Given the description of an element on the screen output the (x, y) to click on. 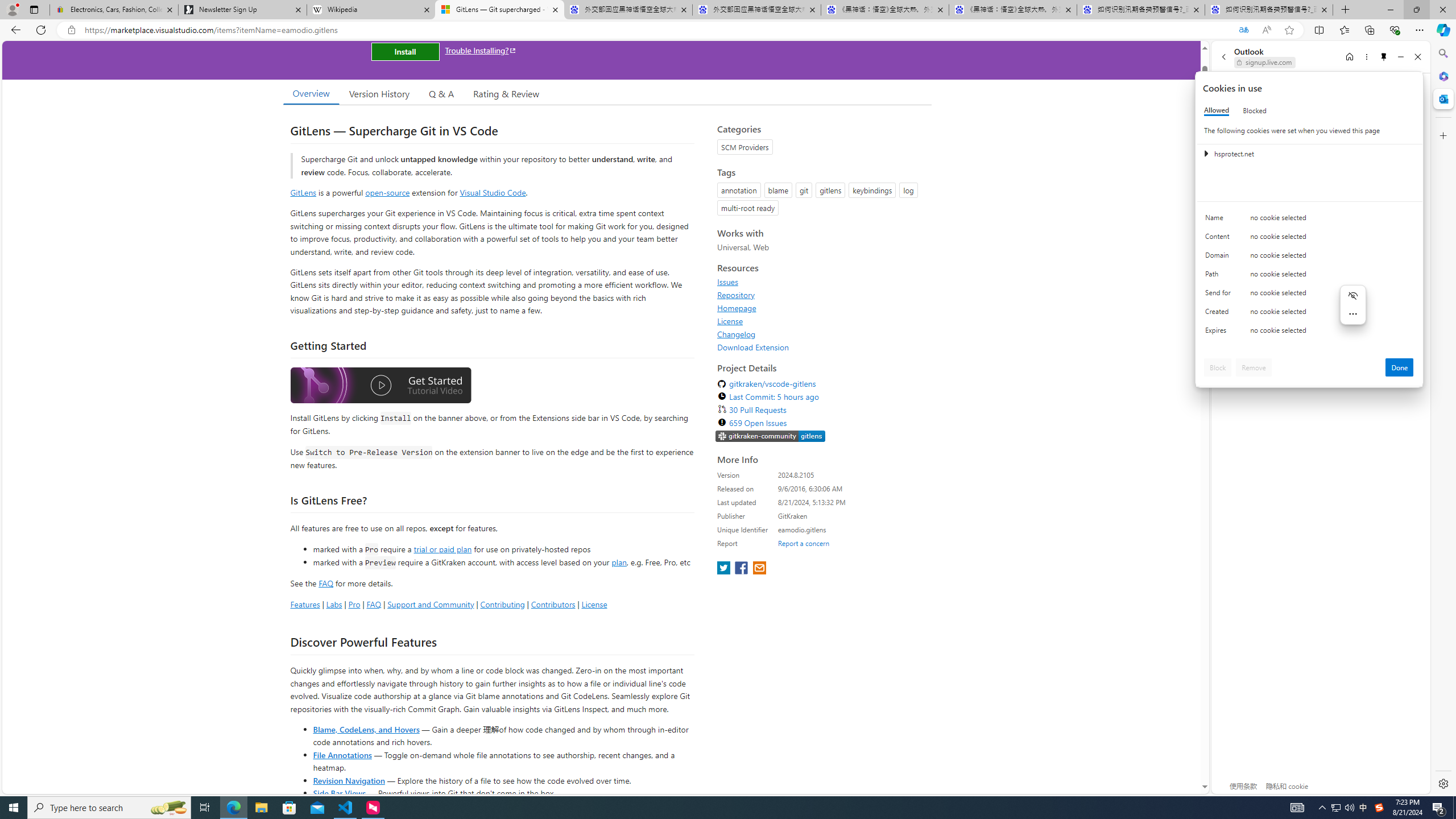
Content (1219, 239)
no cookie selected (1331, 332)
Created (1219, 313)
Name (1219, 220)
Blocked (1255, 110)
Mini menu on text selection (1352, 304)
Allowed (1216, 110)
Class: c0153 c0157 c0154 (1309, 220)
Done (1399, 367)
Send for (1219, 295)
Hide menu (1352, 295)
Mini menu on text selection (1352, 311)
Class: c0153 c0157 (1309, 332)
Remove (1253, 367)
Path (1219, 276)
